Given the description of an element on the screen output the (x, y) to click on. 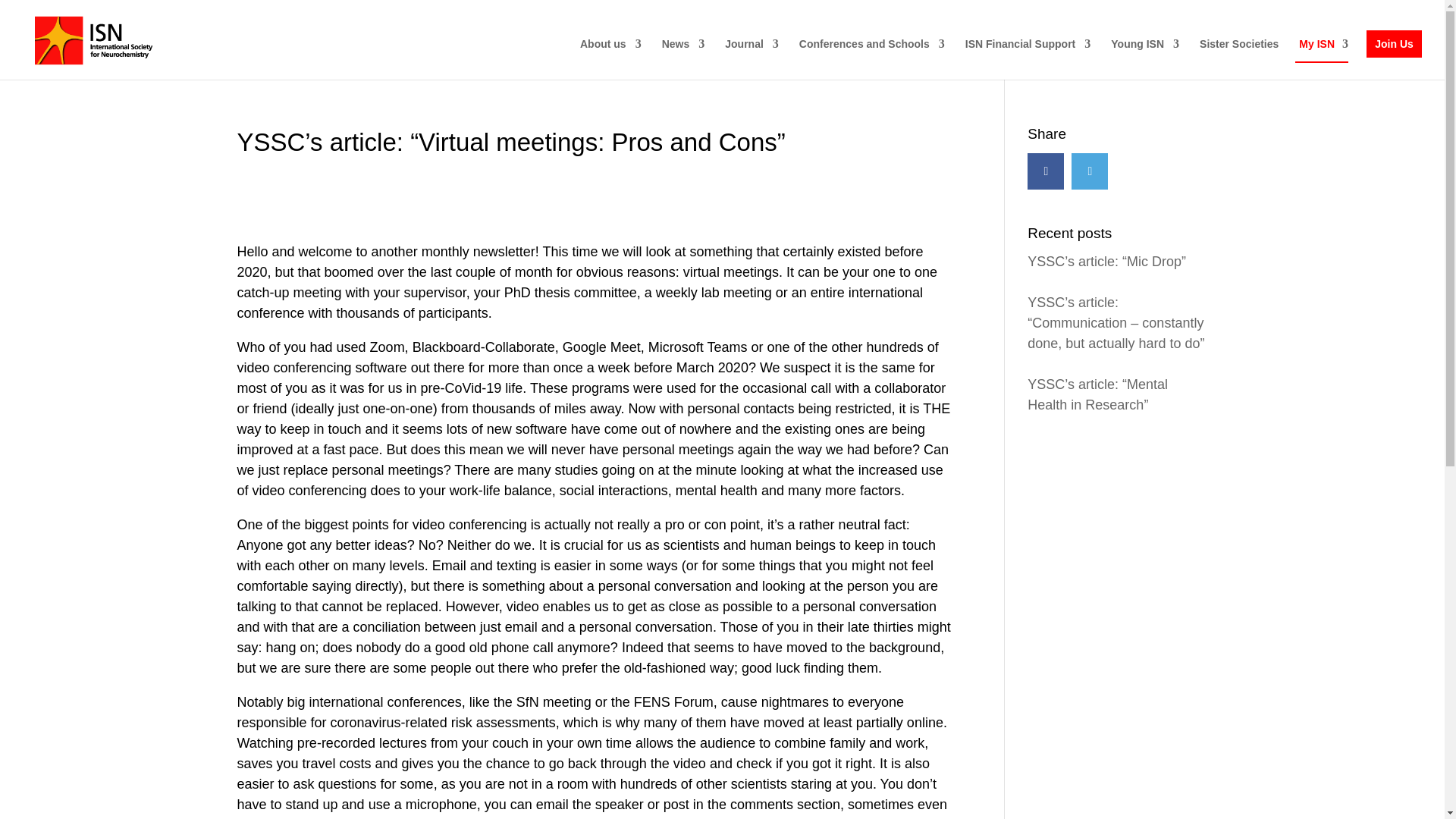
My ISN (1316, 43)
ISN Financial Support (1027, 58)
Twitter (1089, 171)
Sister Societies (1238, 58)
Journal (751, 58)
My ISN (1316, 58)
About us (610, 58)
Young ISN (1144, 58)
My ISN (1316, 43)
Join Us (1394, 43)
Conferences and Schools (871, 58)
Facebook (1045, 171)
News (683, 58)
